Given the description of an element on the screen output the (x, y) to click on. 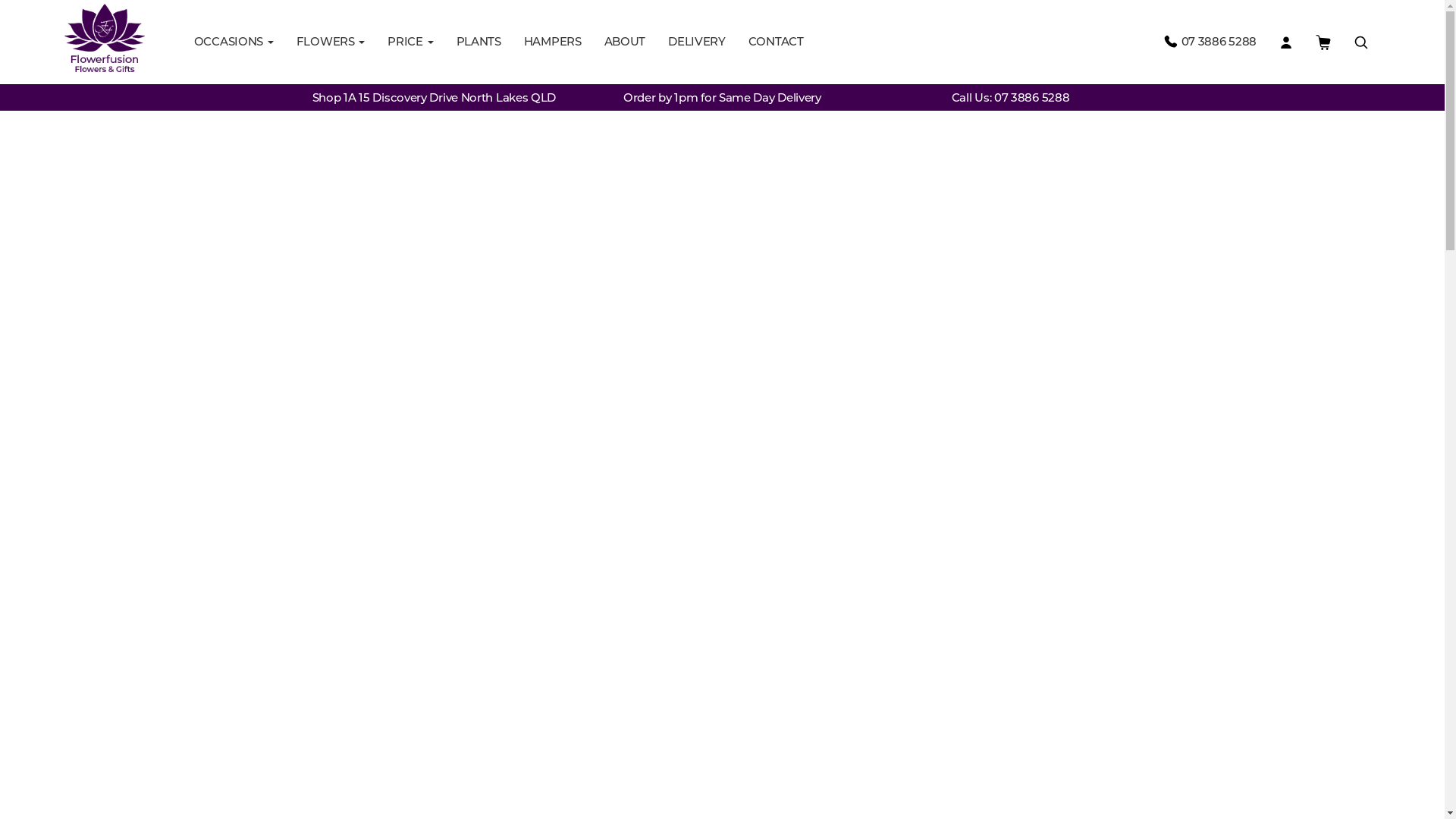
DELIVERY Element type: text (696, 41)
ABOUT Element type: text (625, 41)
07 3886 5288 Element type: text (1208, 41)
CONTACT Element type: text (776, 41)
PRICE Element type: text (410, 41)
Call Us: 07 3886 5288 Element type: text (1010, 97)
FLOWERS Element type: text (330, 41)
HAMPERS Element type: text (552, 41)
PLANTS Element type: text (478, 41)
OCCASIONS Element type: text (233, 41)
